Given the description of an element on the screen output the (x, y) to click on. 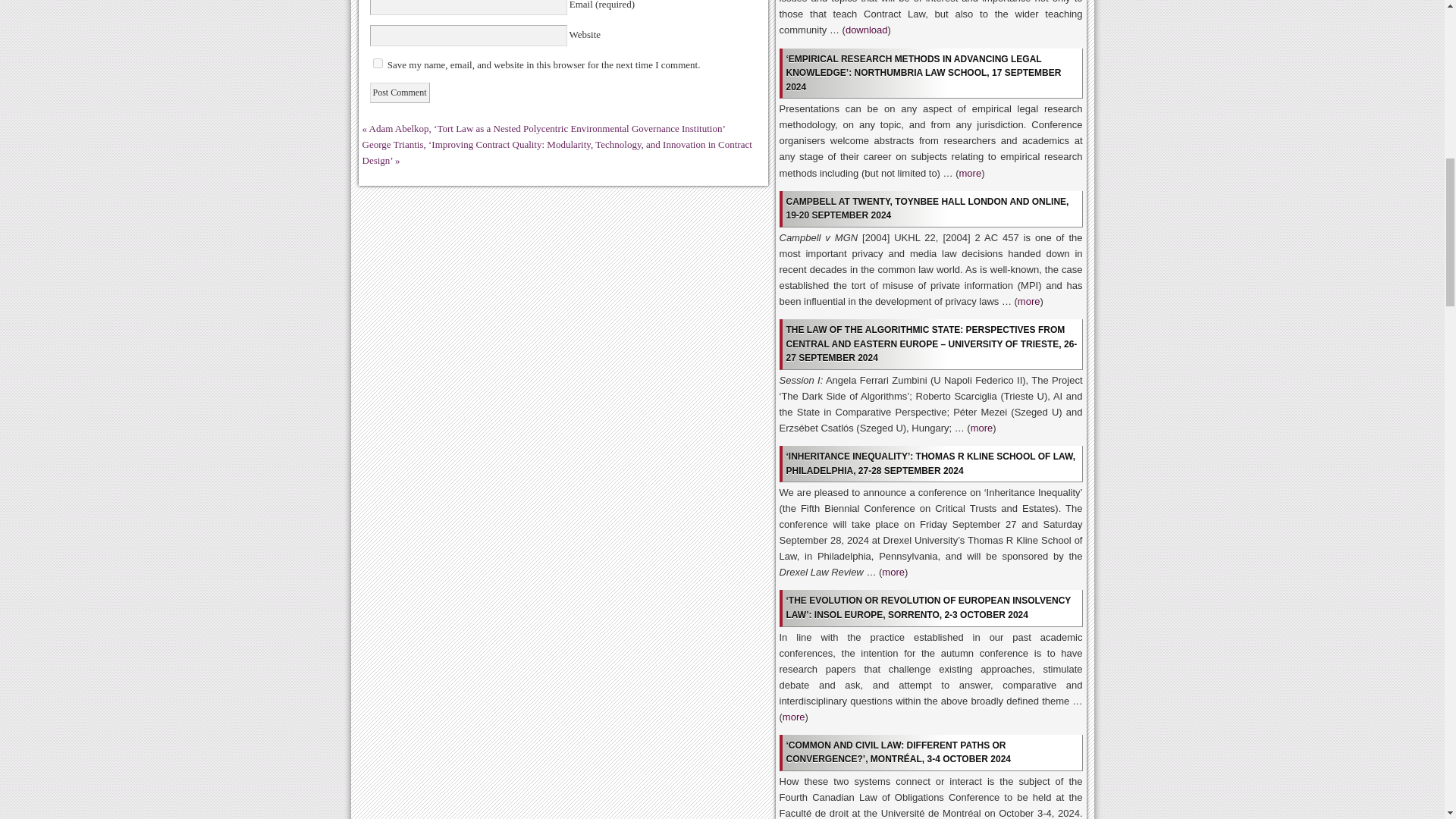
yes (377, 62)
Post Comment (399, 92)
